Given the description of an element on the screen output the (x, y) to click on. 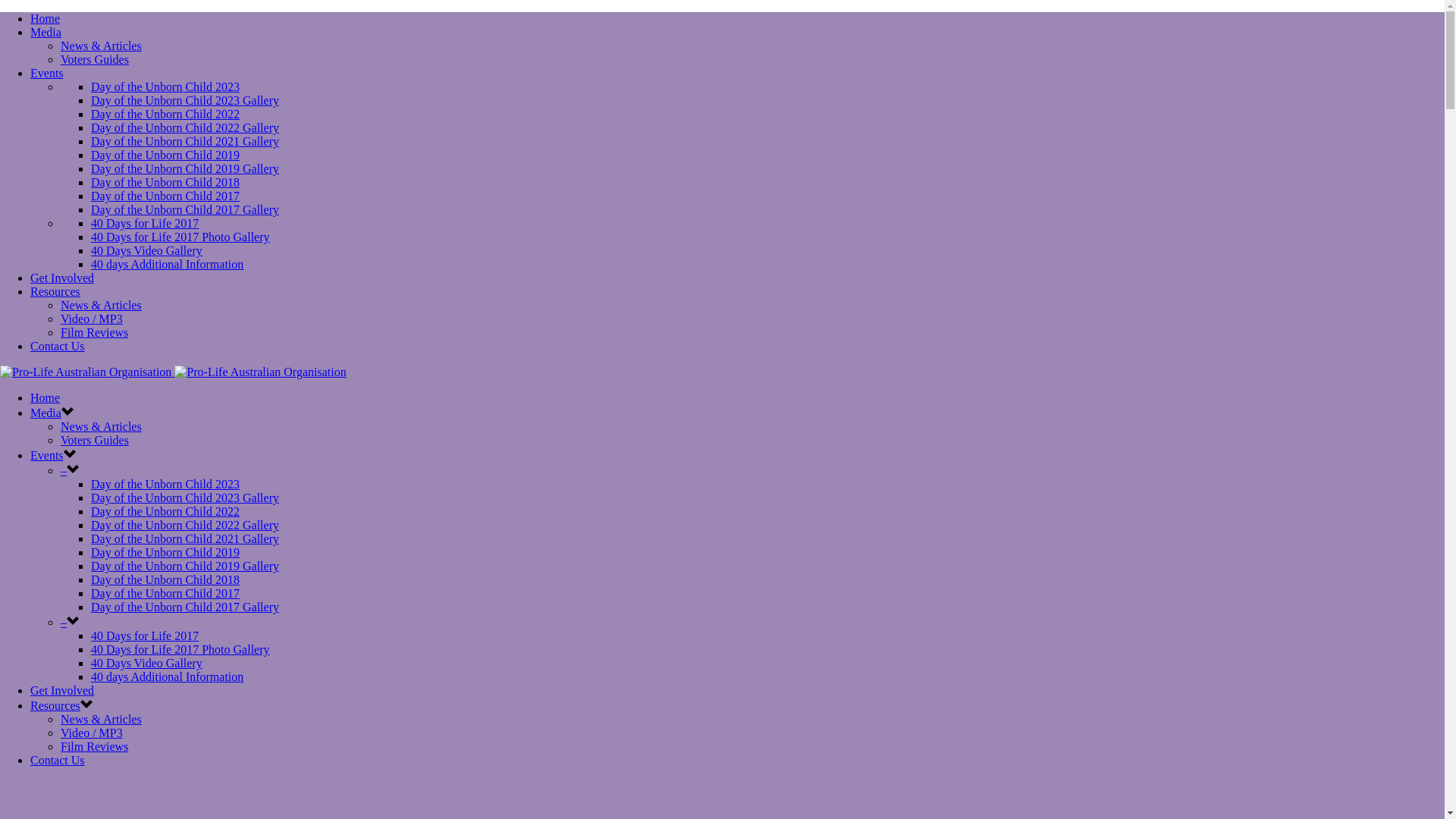
Resources Element type: text (55, 705)
Get Involved Element type: text (62, 690)
Video / MP3 Element type: text (91, 732)
Day of the Unborn Child 2023 Gallery Element type: text (185, 497)
Day of the Unborn Child 2017 Element type: text (165, 195)
News & Articles Element type: text (100, 718)
40 Days for Life 2017 Element type: text (144, 635)
Day of the Unborn Child 2022 Gallery Element type: text (185, 127)
News & Articles Element type: text (100, 304)
Home Element type: text (44, 397)
Day of the Unborn Child 2019 Gallery Element type: text (185, 168)
Media Element type: text (45, 31)
Media Element type: text (45, 412)
Film Reviews Element type: text (94, 332)
Day of the Unborn Child 2023 Gallery Element type: text (185, 100)
Events Element type: text (46, 72)
40 Days for Life 2017 Photo Gallery Element type: text (180, 236)
Day of the Unborn Child 2021 Gallery Element type: text (185, 538)
Day of the Unborn Child 2021 Gallery Element type: text (185, 140)
Day of the Unborn Child 2023 Element type: text (165, 86)
Day of the Unborn Child 2019 Element type: text (165, 154)
40 Days Video Gallery Element type: text (146, 250)
Home Element type: text (44, 18)
News & Articles Element type: text (100, 426)
Events Element type: text (46, 454)
Voters Guides Element type: text (94, 439)
Day of the Unborn Child 2023 Element type: text (165, 483)
News & Articles Element type: text (100, 45)
Pro-Life Australian Organisation Element type: hover (259, 372)
Day of the Unborn Child 2022 Element type: text (165, 511)
Voters Guides Element type: text (94, 59)
40 days Additional Information Element type: text (167, 263)
Pro-Life Australian Organisation Element type: hover (85, 372)
Contact Us Element type: text (57, 759)
40 Days Video Gallery Element type: text (146, 662)
Day of the Unborn Child 2019 Gallery Element type: text (185, 565)
Day of the Unborn Child 2018 Element type: text (165, 579)
Day of the Unborn Child 2018 Element type: text (165, 181)
Life and Family Institute Element type: hover (173, 371)
Day of the Unborn Child 2017 Element type: text (165, 592)
Contact Us Element type: text (57, 345)
40 Days for Life 2017 Photo Gallery Element type: text (180, 649)
Day of the Unborn Child 2022 Gallery Element type: text (185, 524)
Video / MP3 Element type: text (91, 318)
Day of the Unborn Child 2019 Element type: text (165, 552)
Film Reviews Element type: text (94, 746)
40 Days for Life 2017 Element type: text (144, 222)
Day of the Unborn Child 2017 Gallery Element type: text (185, 209)
40 days Additional Information Element type: text (167, 676)
Resources Element type: text (55, 291)
Day of the Unborn Child 2022 Element type: text (165, 113)
Get Involved Element type: text (62, 277)
Day of the Unborn Child 2017 Gallery Element type: text (185, 606)
